Given the description of an element on the screen output the (x, y) to click on. 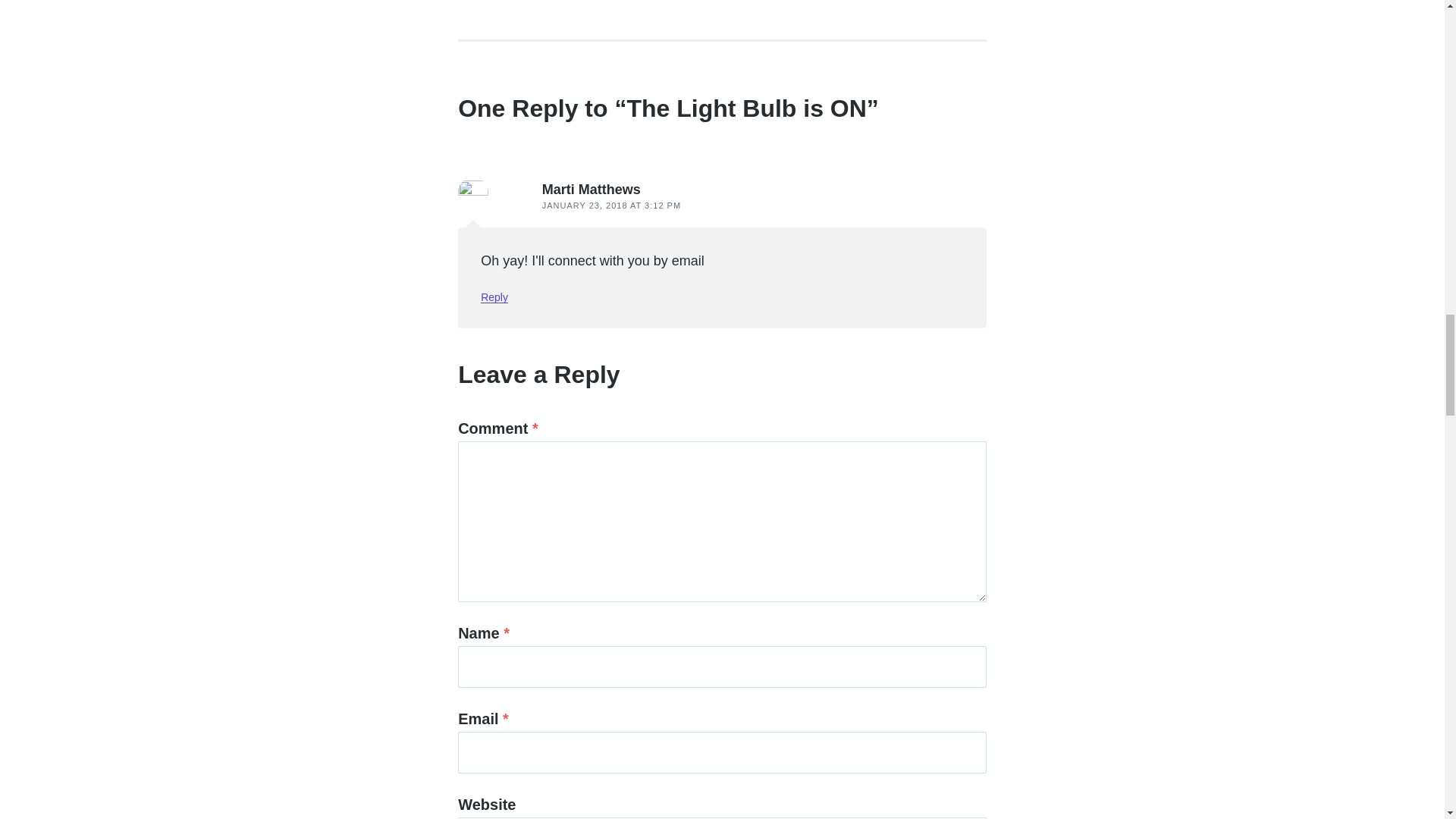
JANUARY 23, 2018 AT 3:12 PM (611, 204)
Reply (494, 297)
Marti Matthews (590, 189)
